Given the description of an element on the screen output the (x, y) to click on. 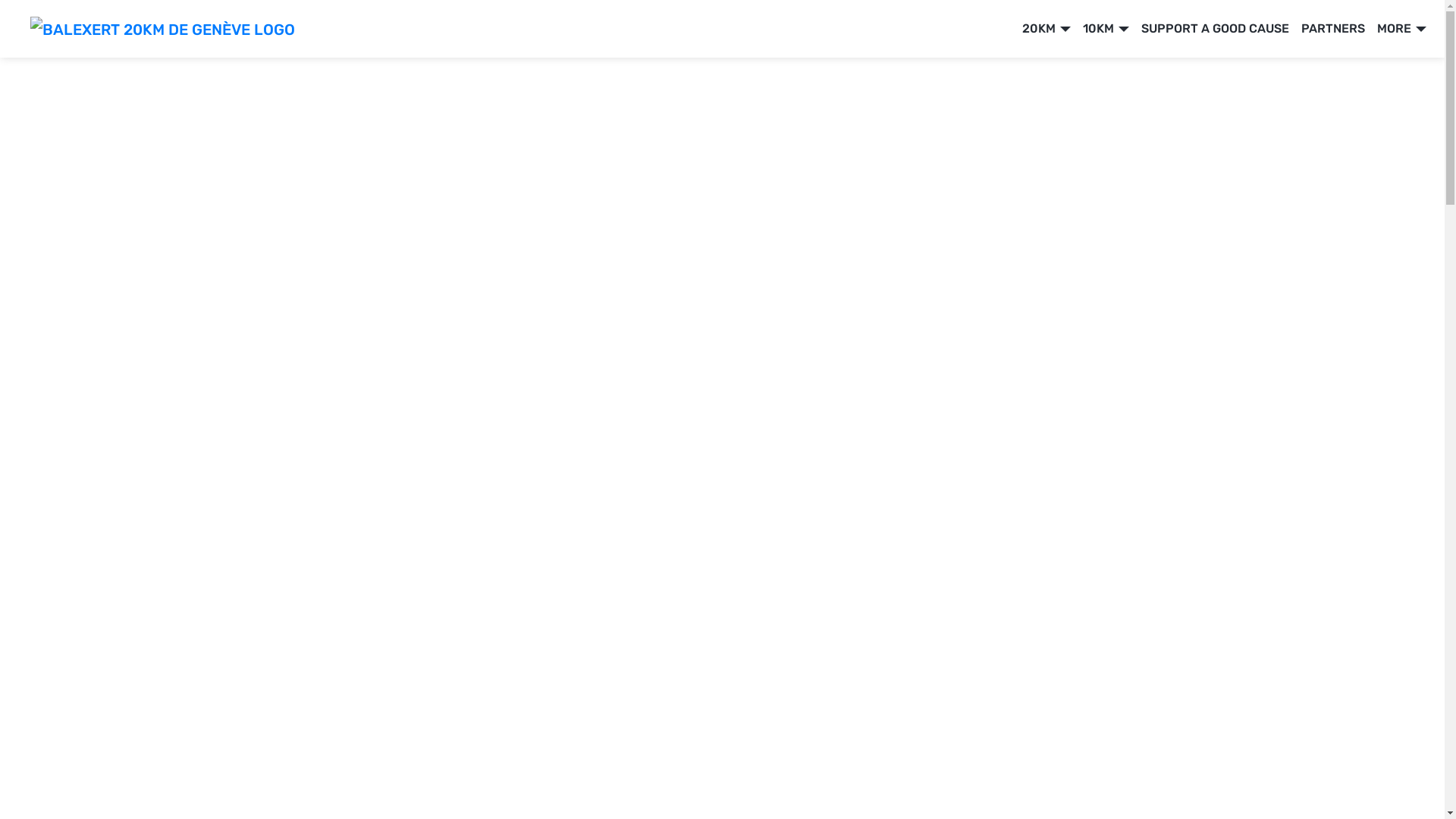
20KM Element type: text (1046, 28)
10KM Element type: text (1105, 28)
SUPPORT A GOOD CAUSE Element type: text (1215, 28)
PARTNERS Element type: text (1333, 28)
MORE Element type: text (1401, 28)
